Given the description of an element on the screen output the (x, y) to click on. 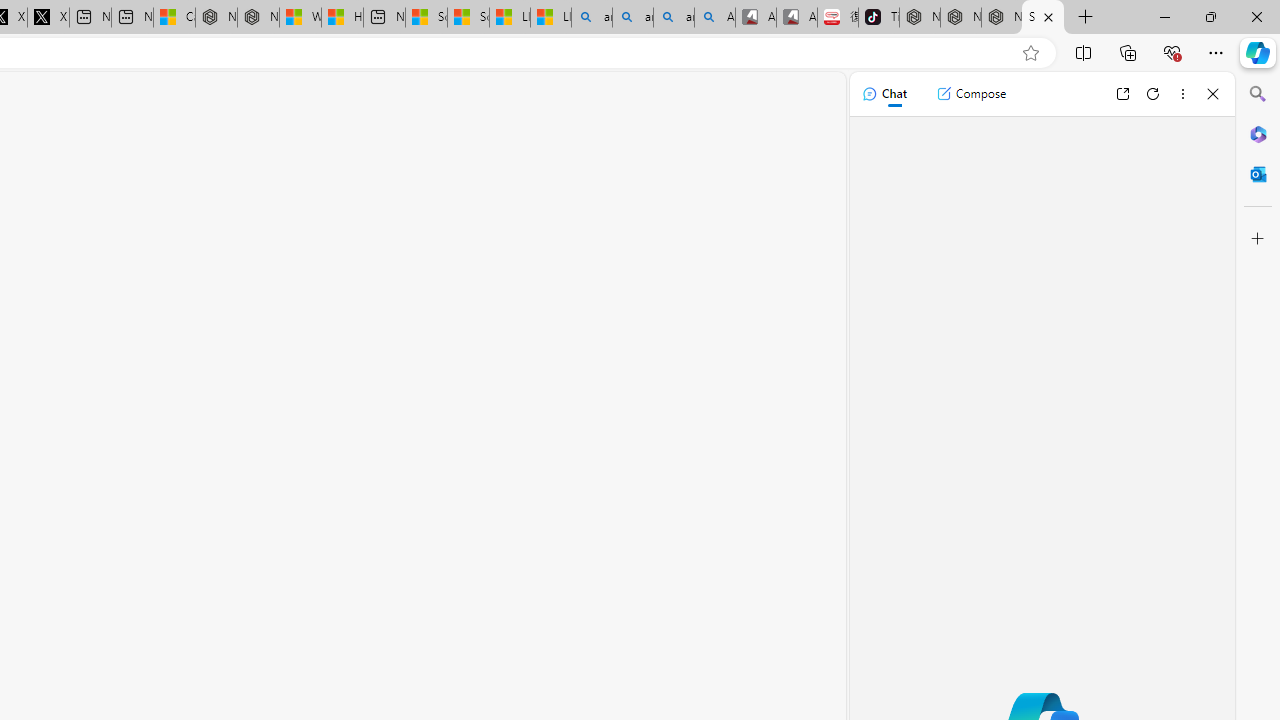
Compose (971, 93)
Outlook (1258, 174)
Open link in new tab (1122, 93)
